Given the description of an element on the screen output the (x, y) to click on. 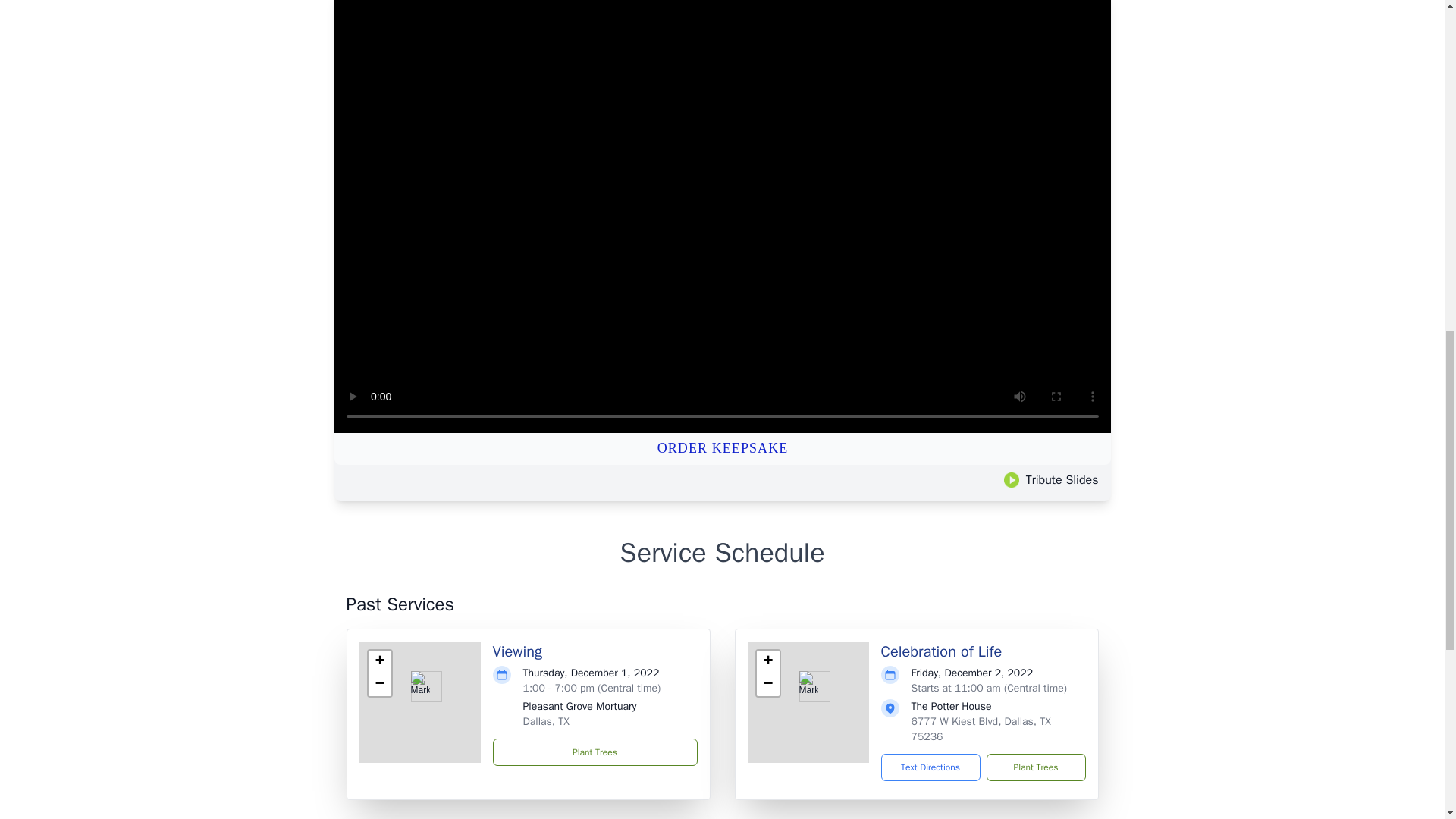
Zoom out (379, 684)
Plant Trees (595, 751)
Dallas, TX (545, 721)
Zoom in (379, 661)
Zoom out (767, 684)
Plant Trees (1034, 767)
Zoom in (767, 661)
6777 W Kiest Blvd, Dallas, TX 75236 (981, 728)
Text Directions (929, 767)
